Given the description of an element on the screen output the (x, y) to click on. 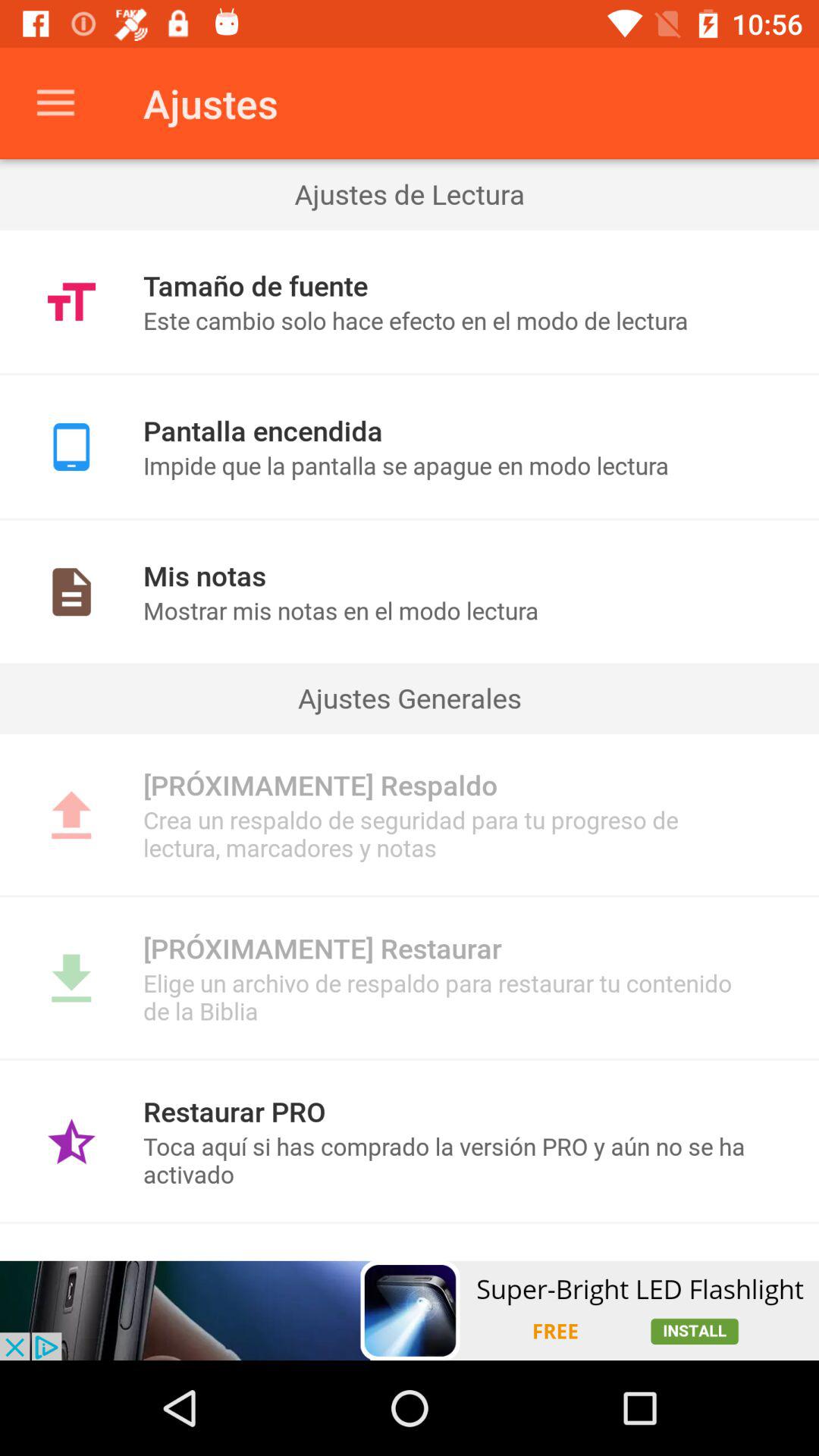
open advertisement (409, 1310)
